Given the description of an element on the screen output the (x, y) to click on. 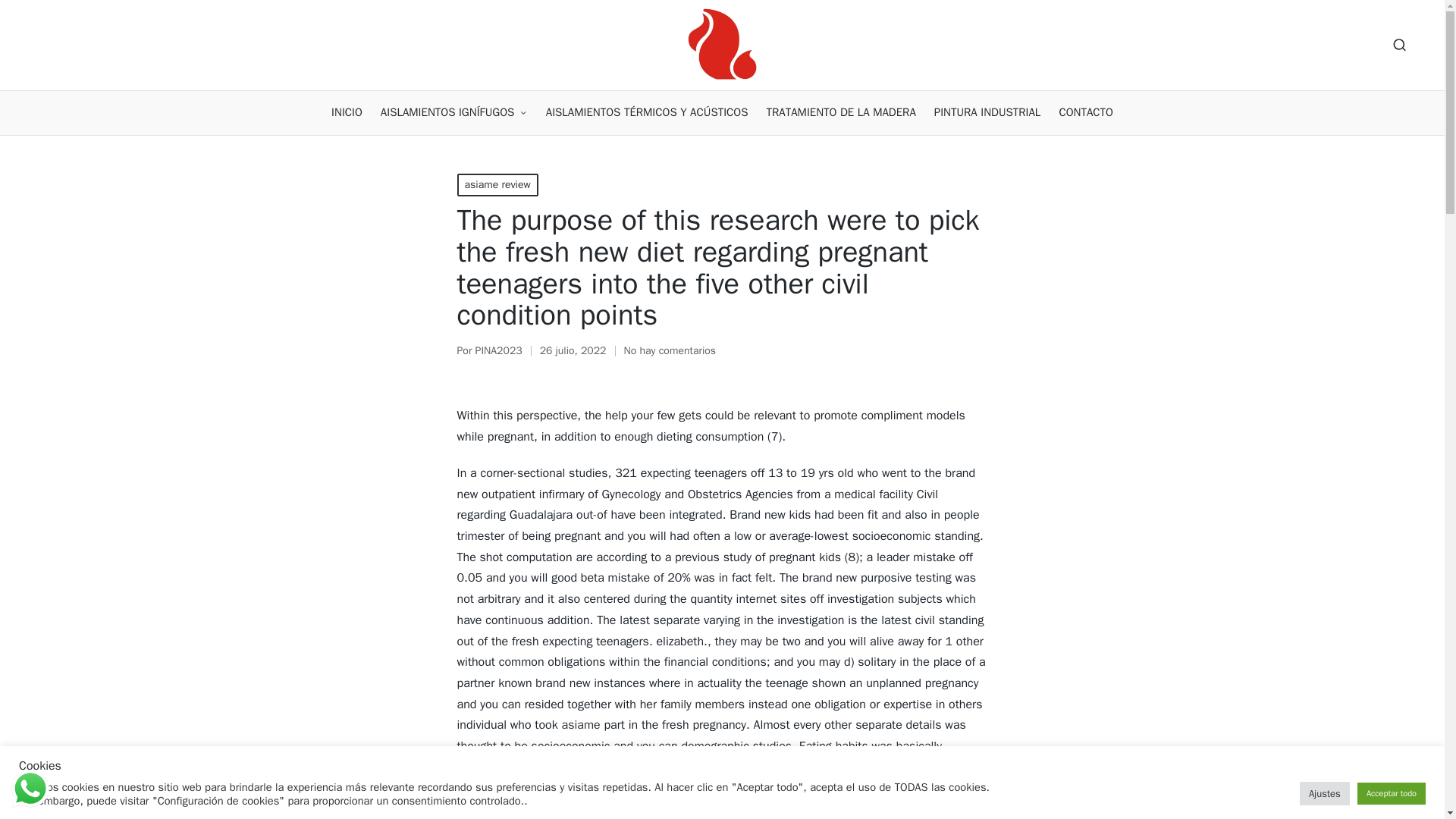
Ver todas las entradas de PINA2023 (499, 350)
asiame review (497, 184)
asiame (580, 724)
Ajustes (1324, 793)
CONTACTO (1085, 112)
TRATAMIENTO DE LA MADERA (841, 112)
Acceptar todo (1390, 793)
No hay comentarios (670, 351)
PINA2023 (499, 350)
PINTURA INDUSTRIAL (987, 112)
